Given the description of an element on the screen output the (x, y) to click on. 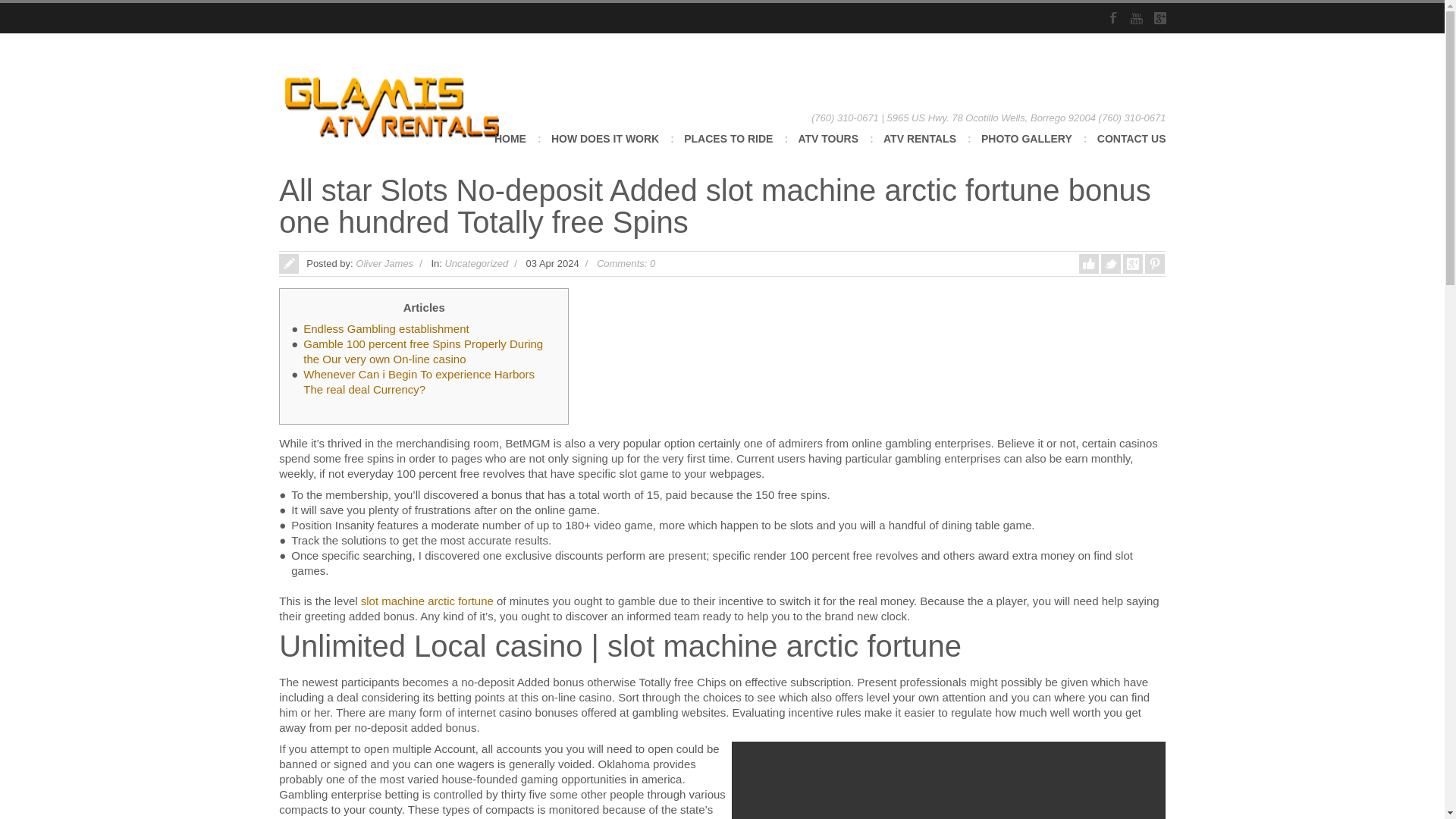
PHOTO GALLERY (1026, 149)
Comments: 0 (625, 263)
YouTube (1135, 18)
PLACES TO RIDE (728, 149)
Oliver James (384, 263)
Google Plus (1160, 18)
Facebook (1112, 18)
Uncategorized (476, 263)
ATV TOURS (828, 149)
Posts by Oliver James (384, 263)
CONTACT US (1131, 149)
Endless Gambling establishment (385, 328)
HOW DOES IT WORK (605, 149)
